Given the description of an element on the screen output the (x, y) to click on. 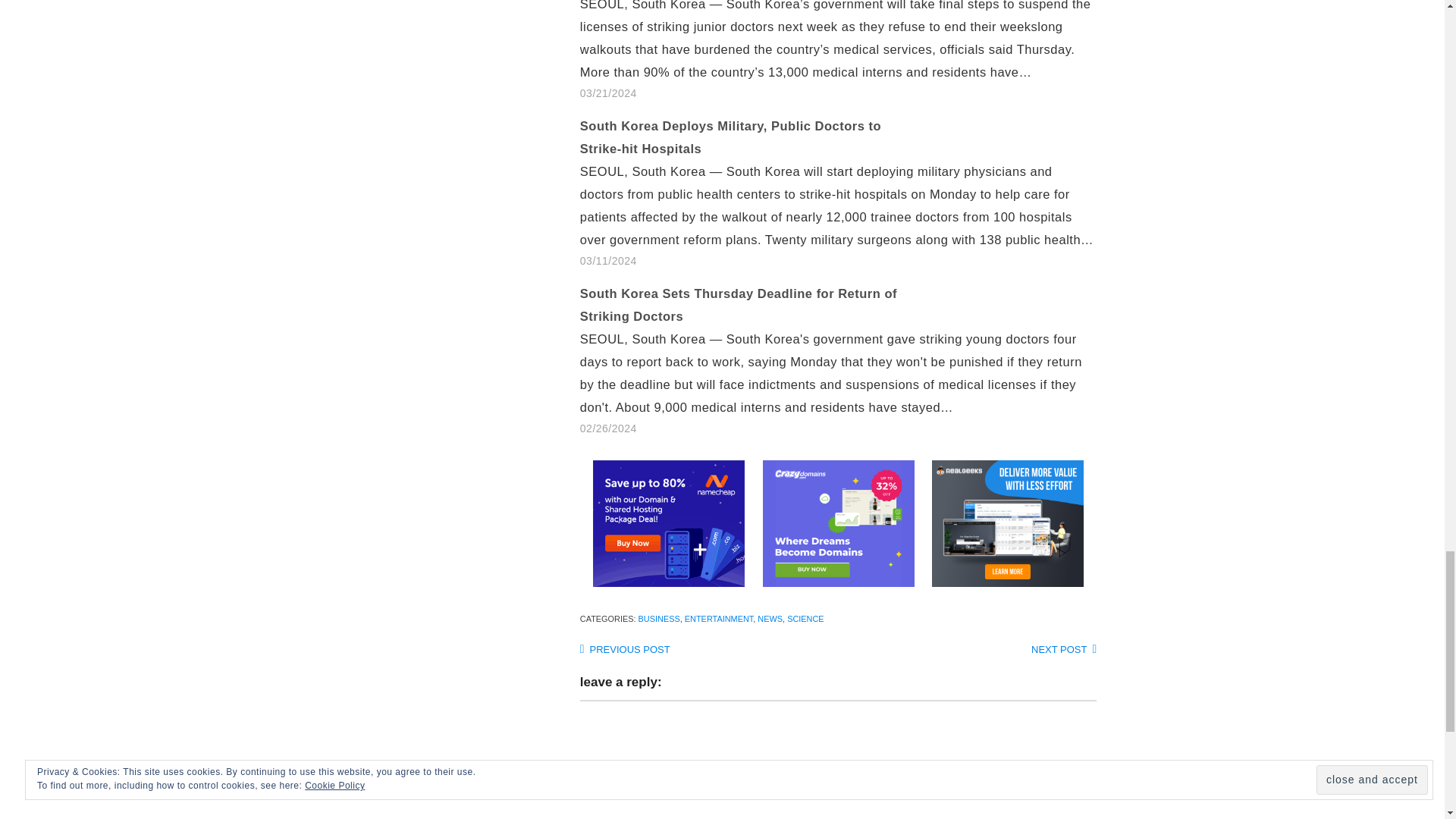
Comment Form (837, 759)
NEXT POST (1063, 649)
BUSINESS (659, 618)
ENTERTAINMENT (719, 618)
NEWS (770, 618)
PREVIOUS POST (624, 649)
SCIENCE (805, 618)
